Given the description of an element on the screen output the (x, y) to click on. 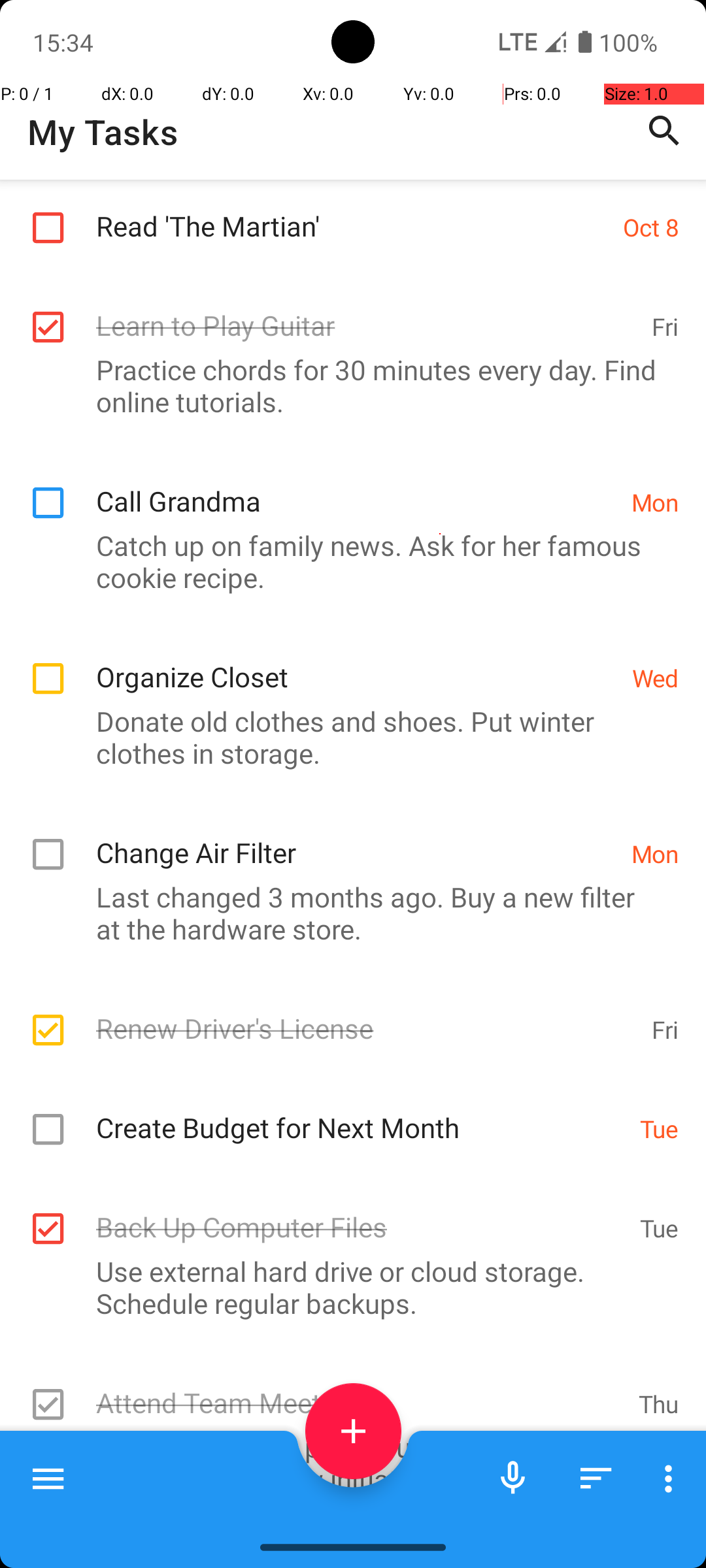
Oct 8 Element type: android.widget.TextView (650, 226)
Practice chords for 30 minutes every day. Find online tutorials. Element type: android.widget.TextView (346, 385)
Catch up on family news. Ask for her famous cookie recipe. Element type: android.widget.TextView (346, 560)
Donate old clothes and shoes. Put winter clothes in storage. Element type: android.widget.TextView (346, 736)
Last changed 3 months ago. Buy a new filter at the hardware store. Element type: android.widget.TextView (346, 912)
Use external hard drive or cloud storage. Schedule regular backups. Element type: android.widget.TextView (346, 1286)
Agenda includes project updates and brainstorming new initiatives. Element type: android.widget.TextView (346, 1462)
